Given the description of an element on the screen output the (x, y) to click on. 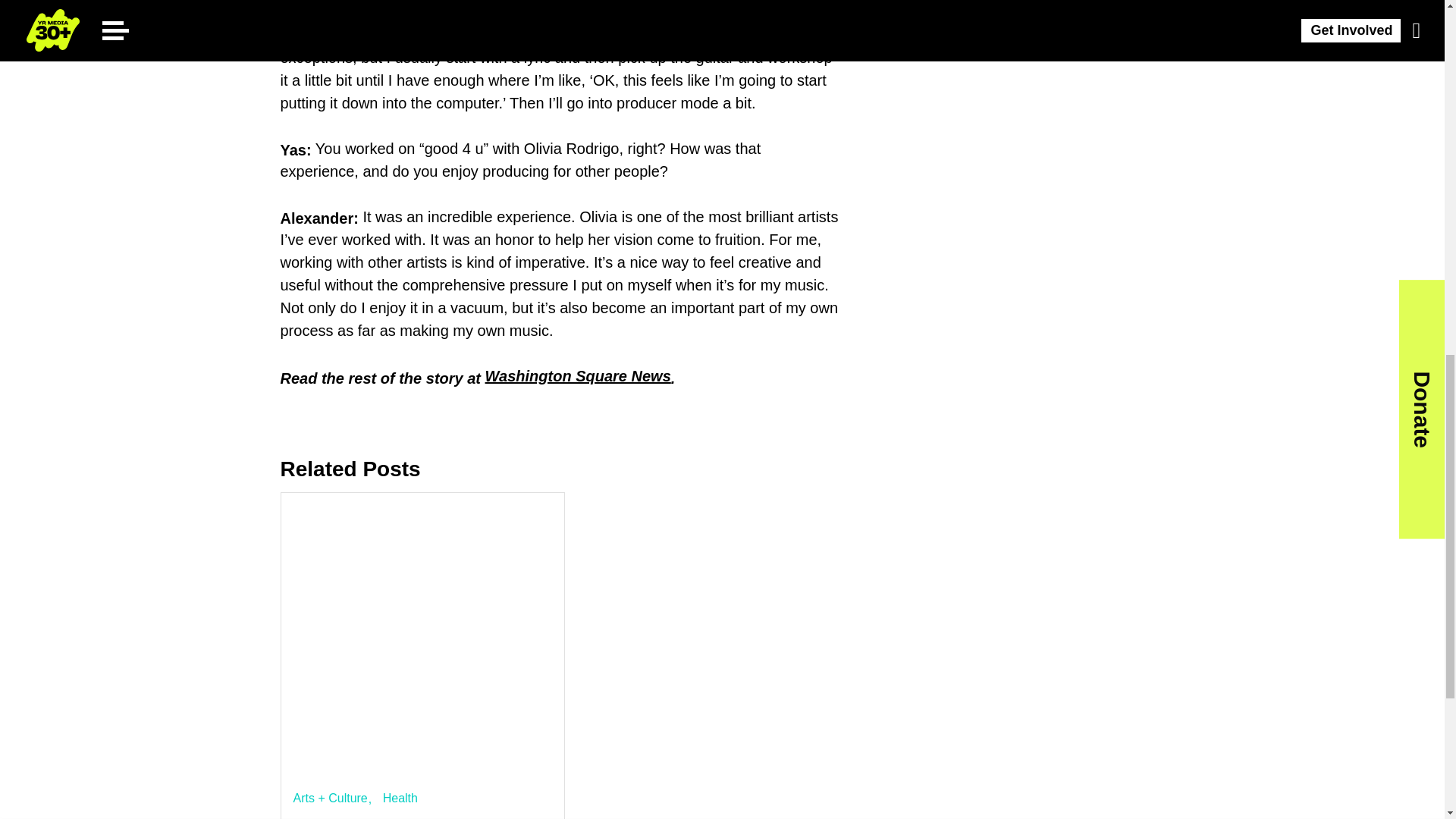
Health (399, 797)
Washington Square News (577, 375)
